Given the description of an element on the screen output the (x, y) to click on. 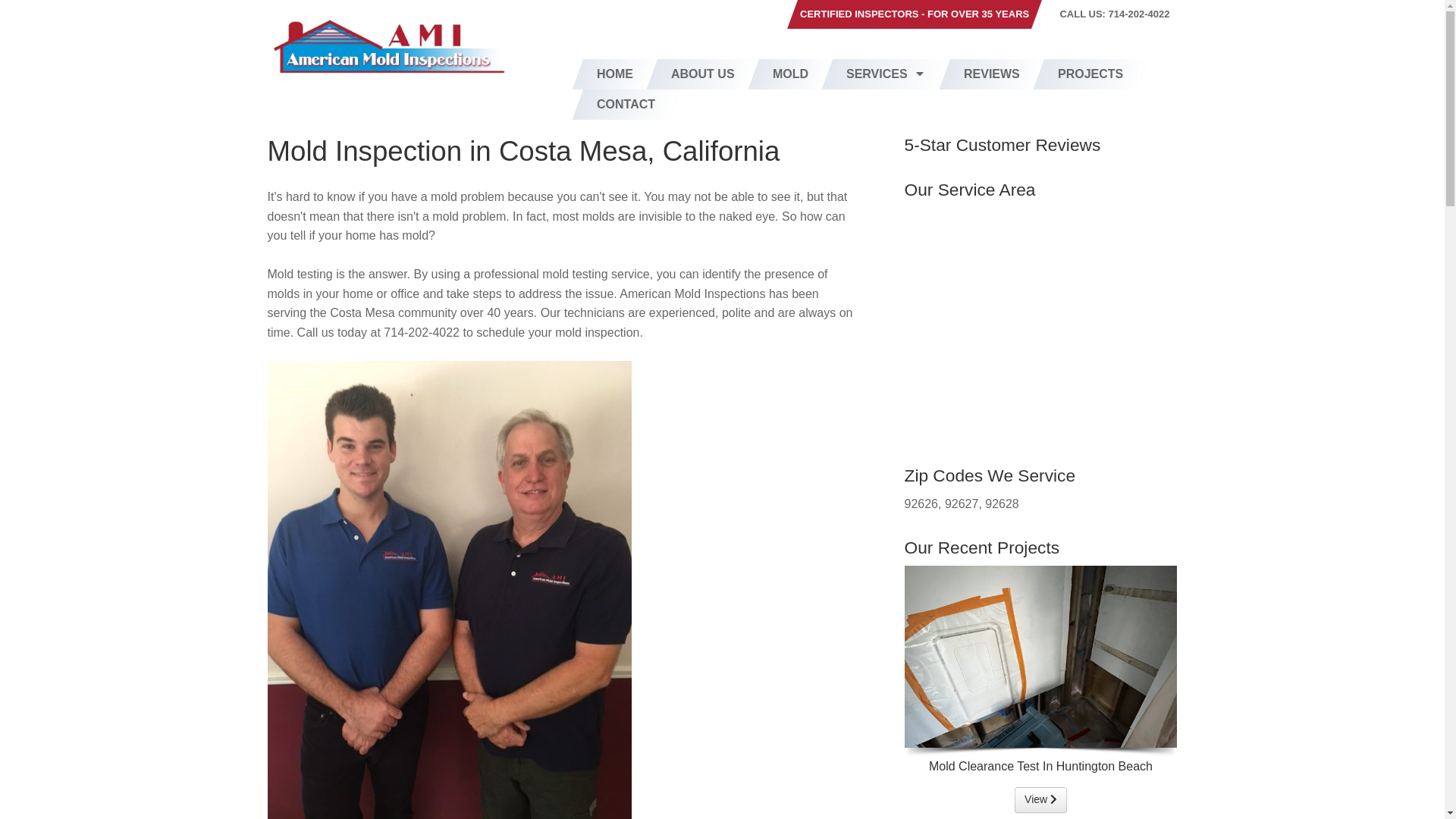
HOME (615, 73)
SERVICES (885, 73)
REVIEWS (991, 73)
Mold Clearance Test In Huntington Beach (1040, 800)
American Mold Inspections (387, 44)
PROJECTS (1090, 73)
MOLD (790, 73)
ABOUT US (703, 73)
CONTACT (626, 104)
View (1040, 800)
